Given the description of an element on the screen output the (x, y) to click on. 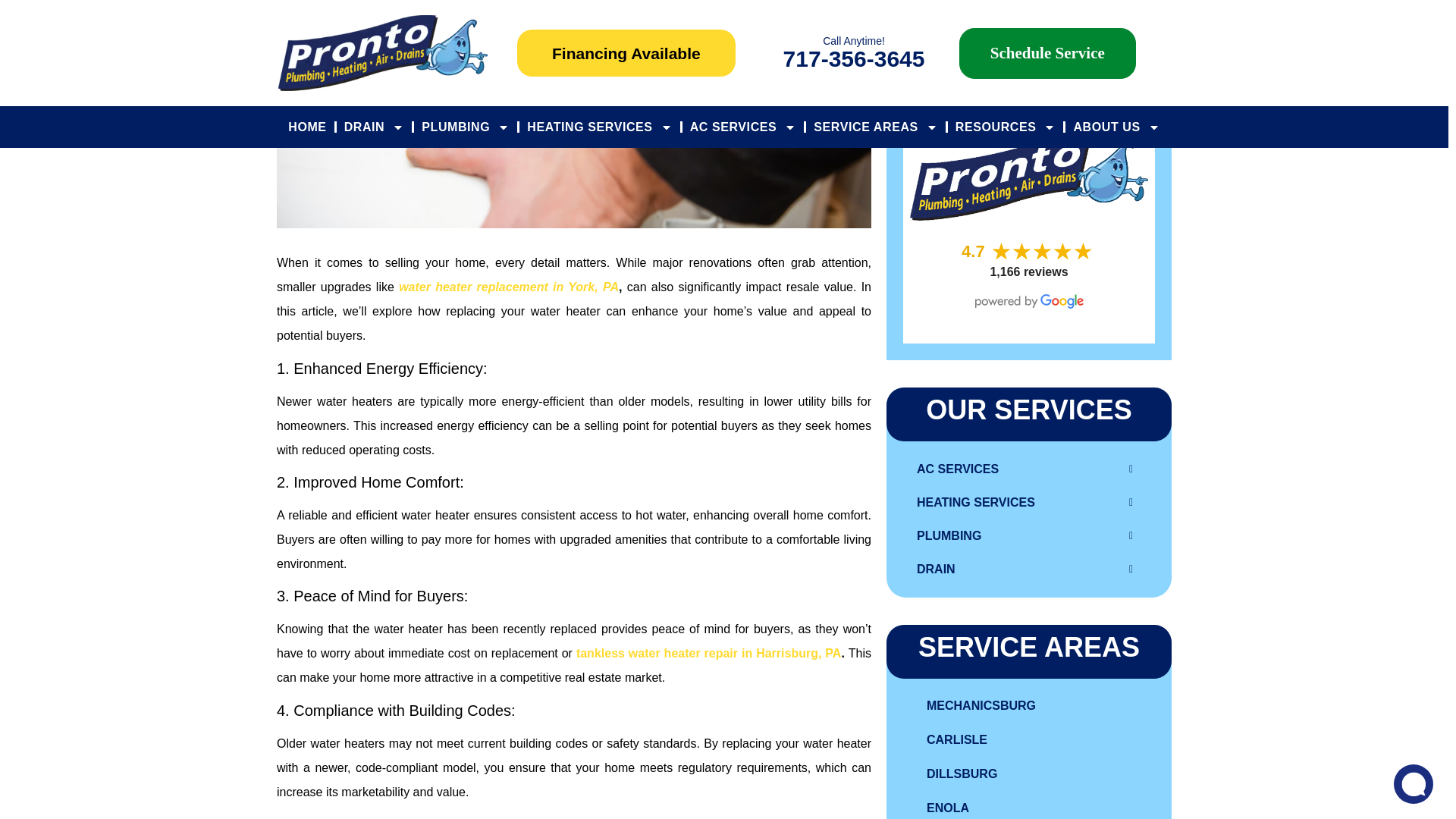
Powered by Google (1029, 301)
